Given the description of an element on the screen output the (x, y) to click on. 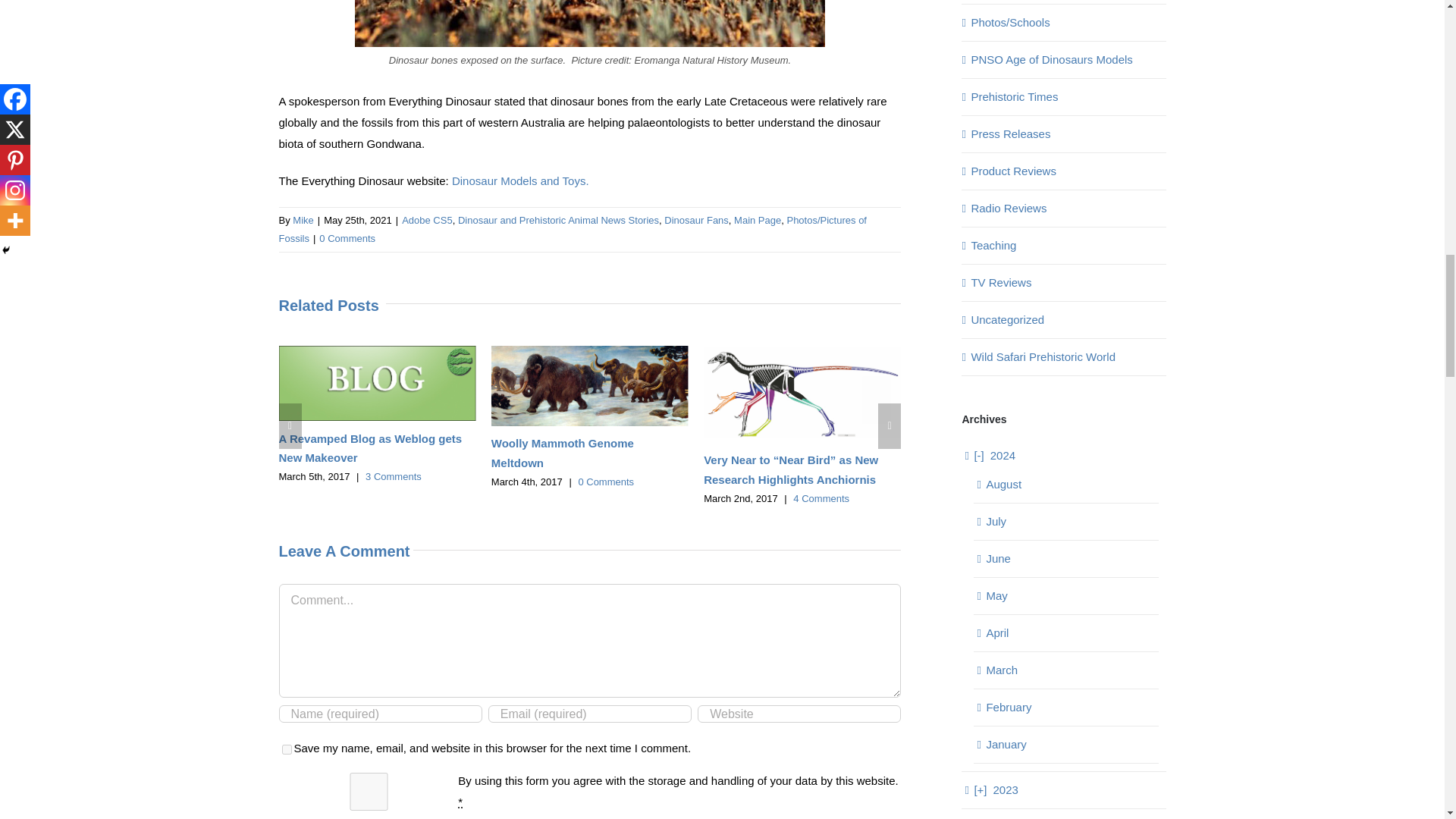
yes (287, 749)
0 Comments (346, 238)
Dinosaur and Prehistoric Animal News Stories (558, 220)
Mike (302, 220)
Adobe CS5 (426, 220)
Main Page (756, 220)
1 (369, 791)
Dinosaur Fans (696, 220)
Posts by Mike (302, 220)
Dinosaur Models and Toys. (520, 180)
Dinosaur Models and Toys. (520, 180)
